Given the description of an element on the screen output the (x, y) to click on. 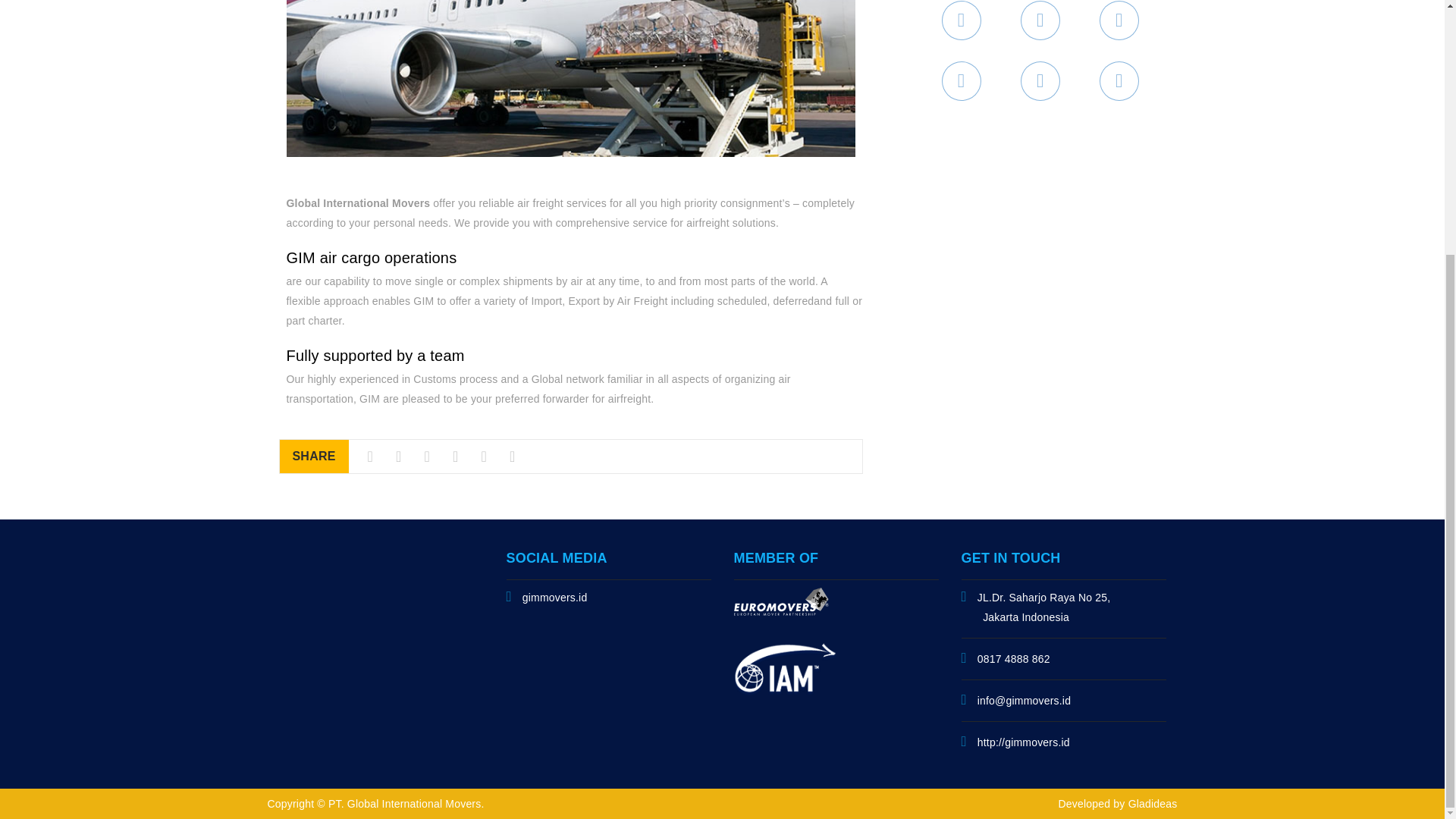
SHARE (313, 456)
